Given the description of an element on the screen output the (x, y) to click on. 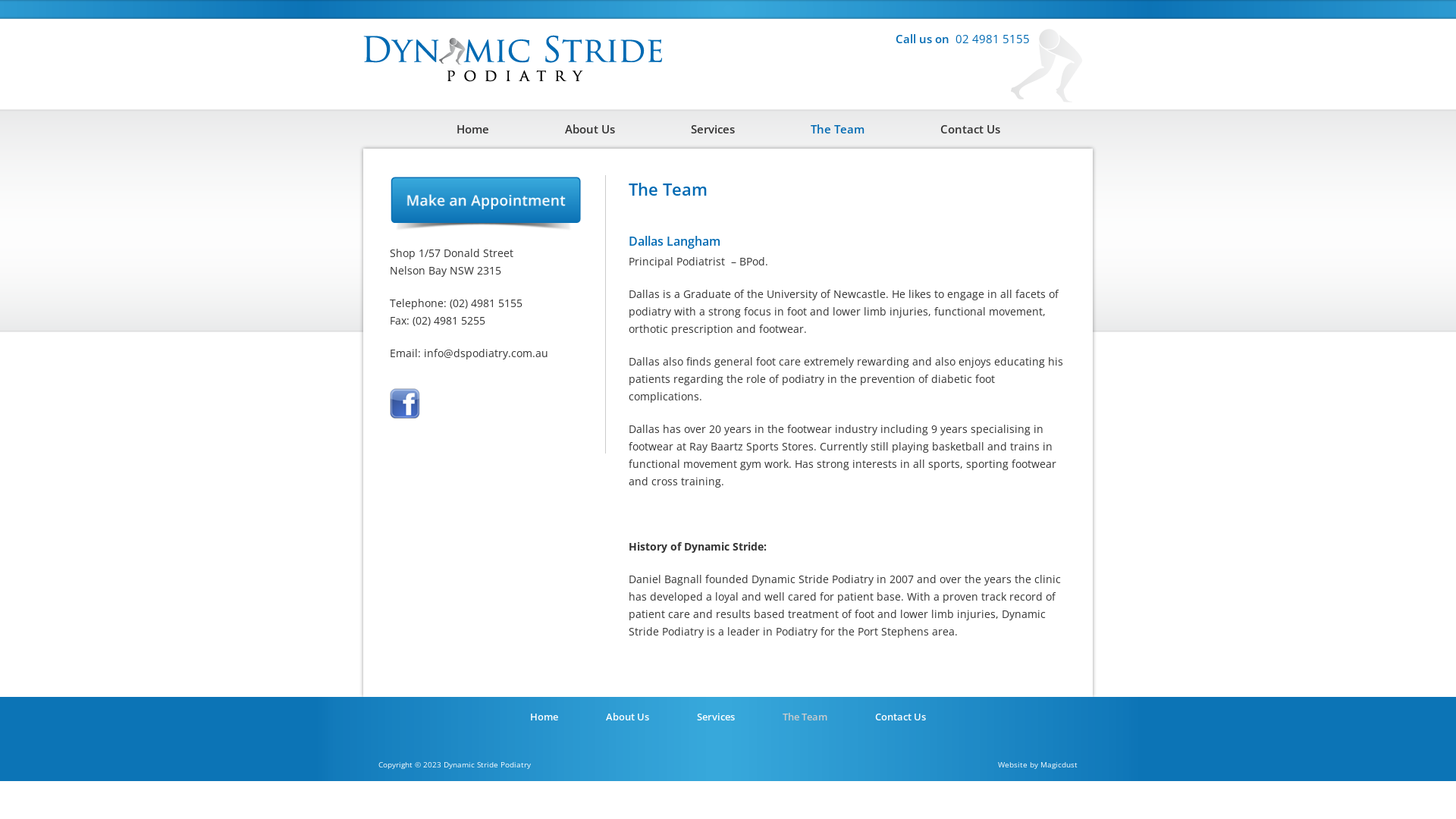
Services Element type: text (711, 128)
Home Element type: text (544, 716)
Home Element type: text (472, 128)
Dynamic Stride Podiatry Element type: text (514, 54)
About Us Element type: text (589, 128)
Contact Us Element type: text (970, 128)
About Us Element type: text (627, 716)
Contact Us Element type: text (900, 716)
The Team Element type: text (836, 128)
The Team Element type: text (804, 716)
Services Element type: text (715, 716)
Magicdust Element type: text (1058, 764)
